Given the description of an element on the screen output the (x, y) to click on. 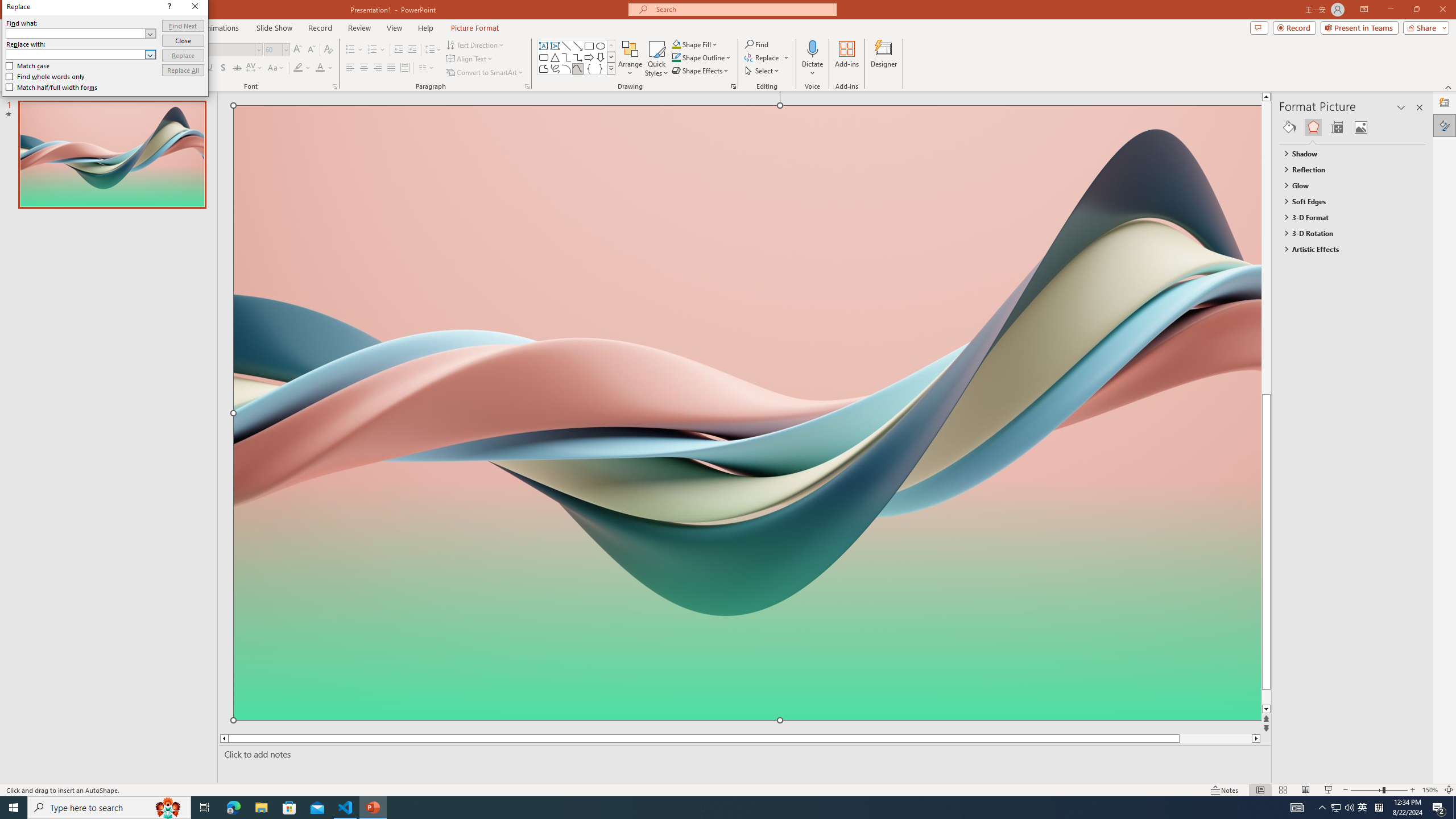
Running applications (707, 807)
Class: NetUIGalleryContainer (1352, 126)
Artistic Effects (1347, 248)
Isosceles Triangle (554, 57)
Quick Styles (656, 58)
Find what (80, 33)
Freeform: Scribble (554, 68)
Left Brace (589, 68)
